Given the description of an element on the screen output the (x, y) to click on. 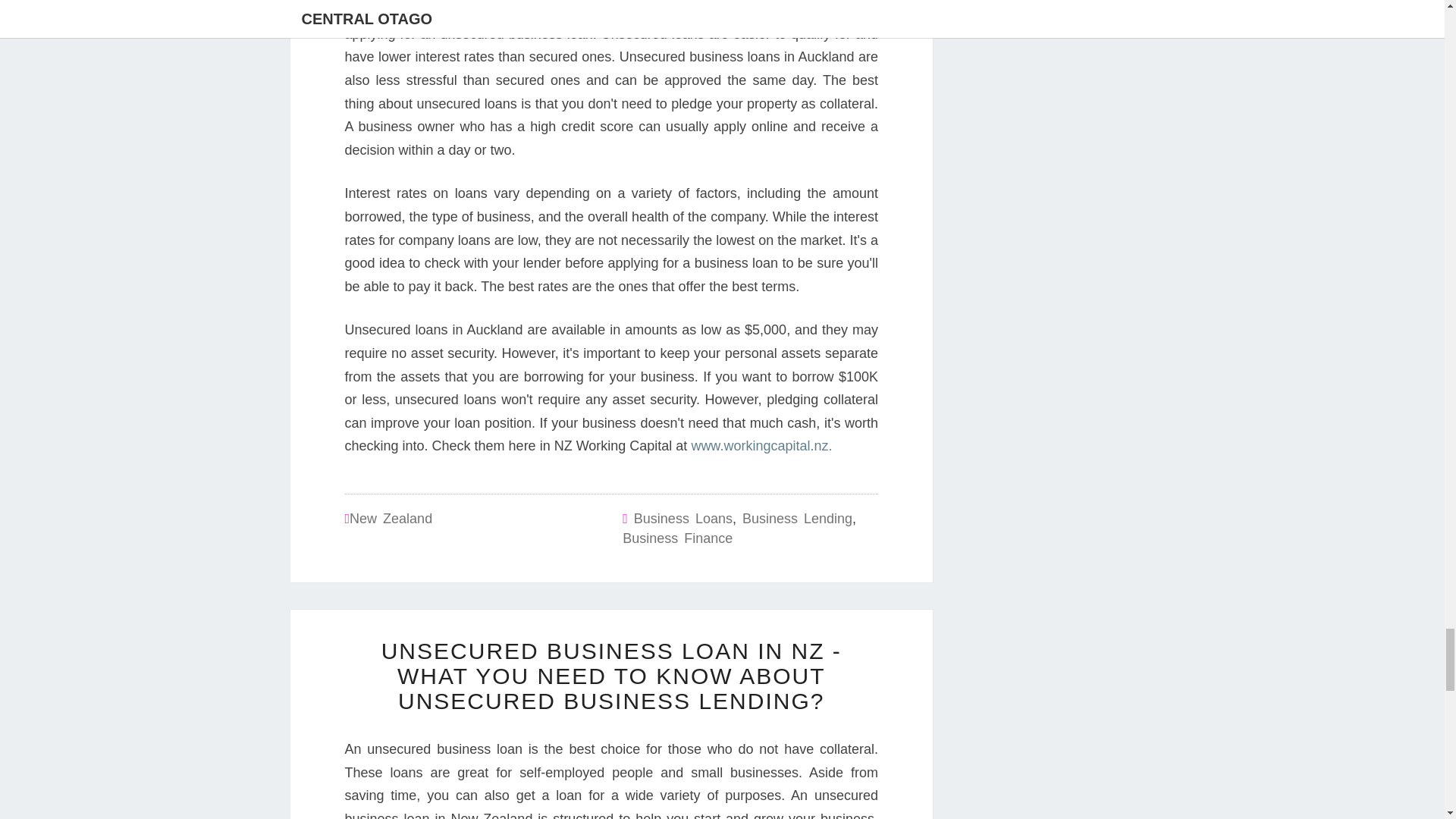
Business Lending (796, 518)
Business Loans (682, 518)
Business Finance (677, 538)
New Zealand (390, 518)
www.workingcapital.nz. (759, 445)
